Given the description of an element on the screen output the (x, y) to click on. 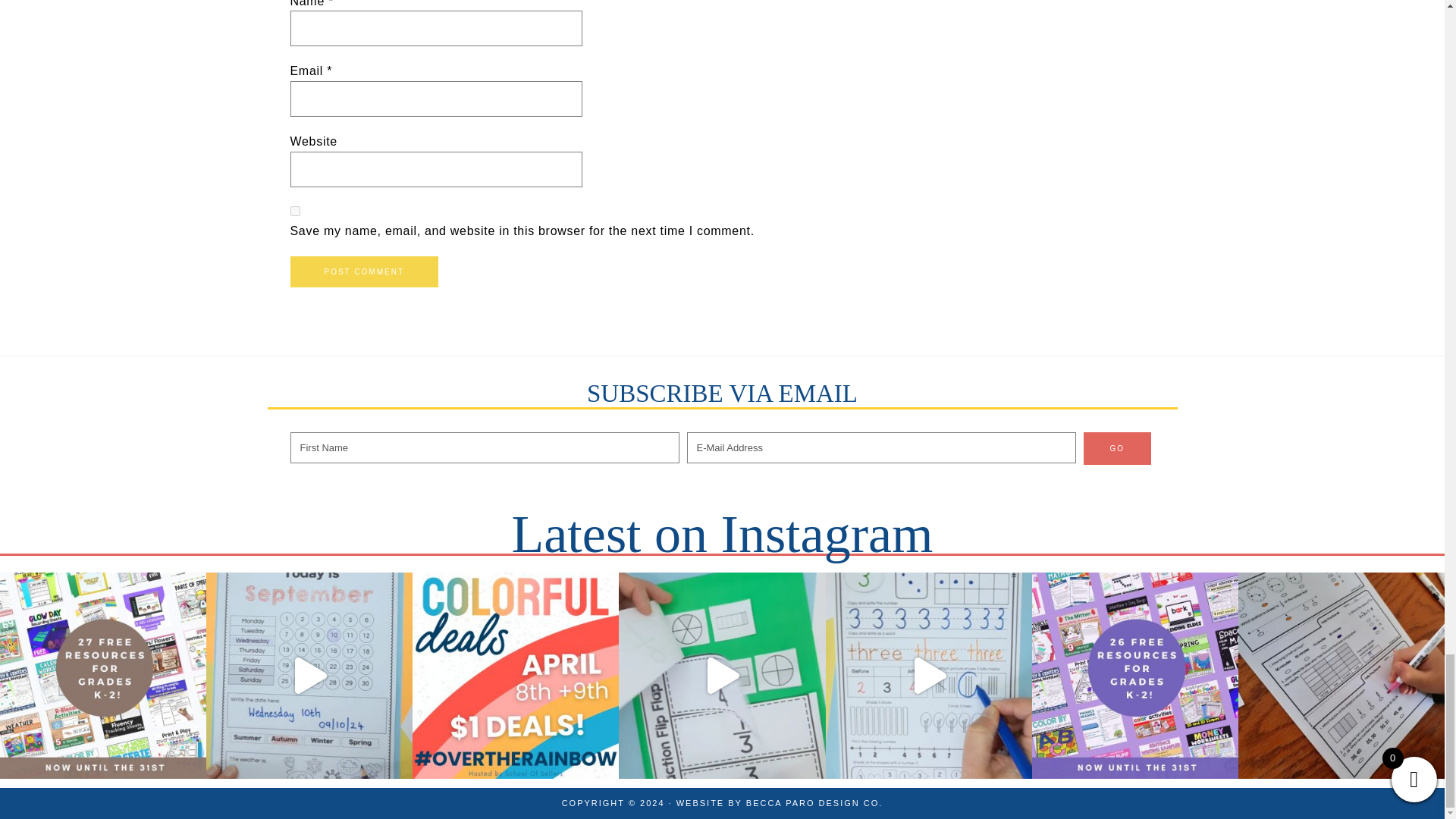
Post Comment (363, 271)
yes (294, 211)
Go (1117, 448)
